Given the description of an element on the screen output the (x, y) to click on. 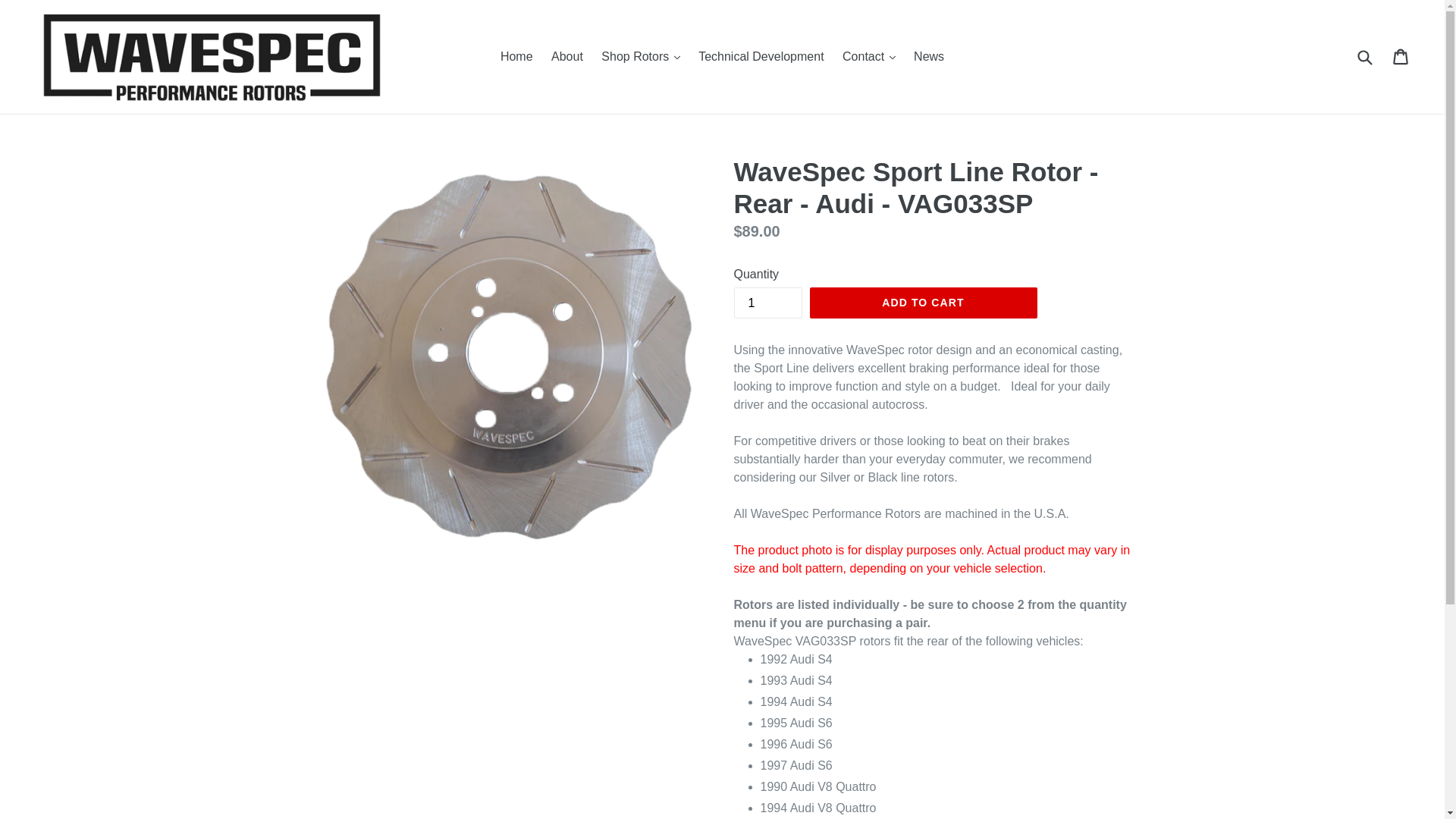
Home (516, 56)
Technical Development (760, 56)
1 (767, 302)
About (567, 56)
